Given the description of an element on the screen output the (x, y) to click on. 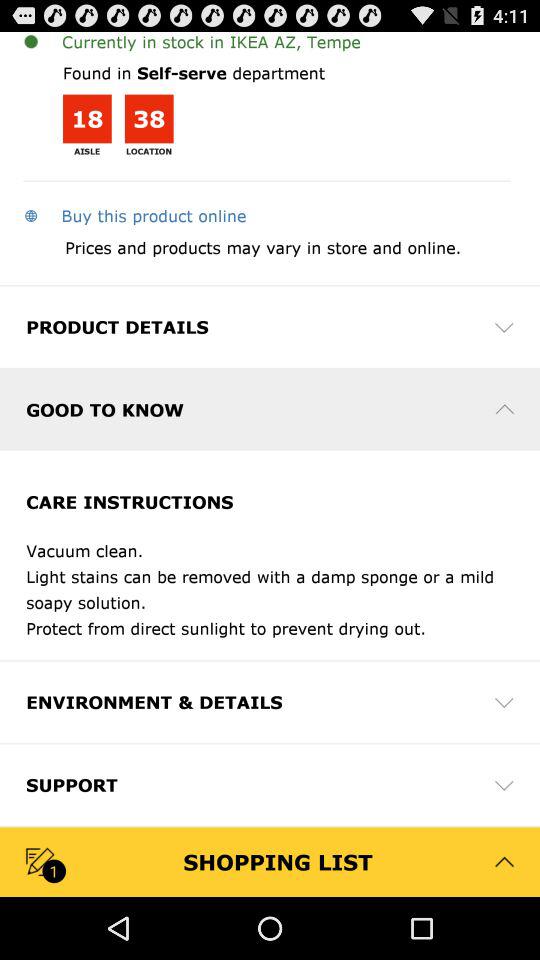
click on icon on the right side of product details (503, 326)
click on the button which is next to the shopping list (503, 861)
